Given the description of an element on the screen output the (x, y) to click on. 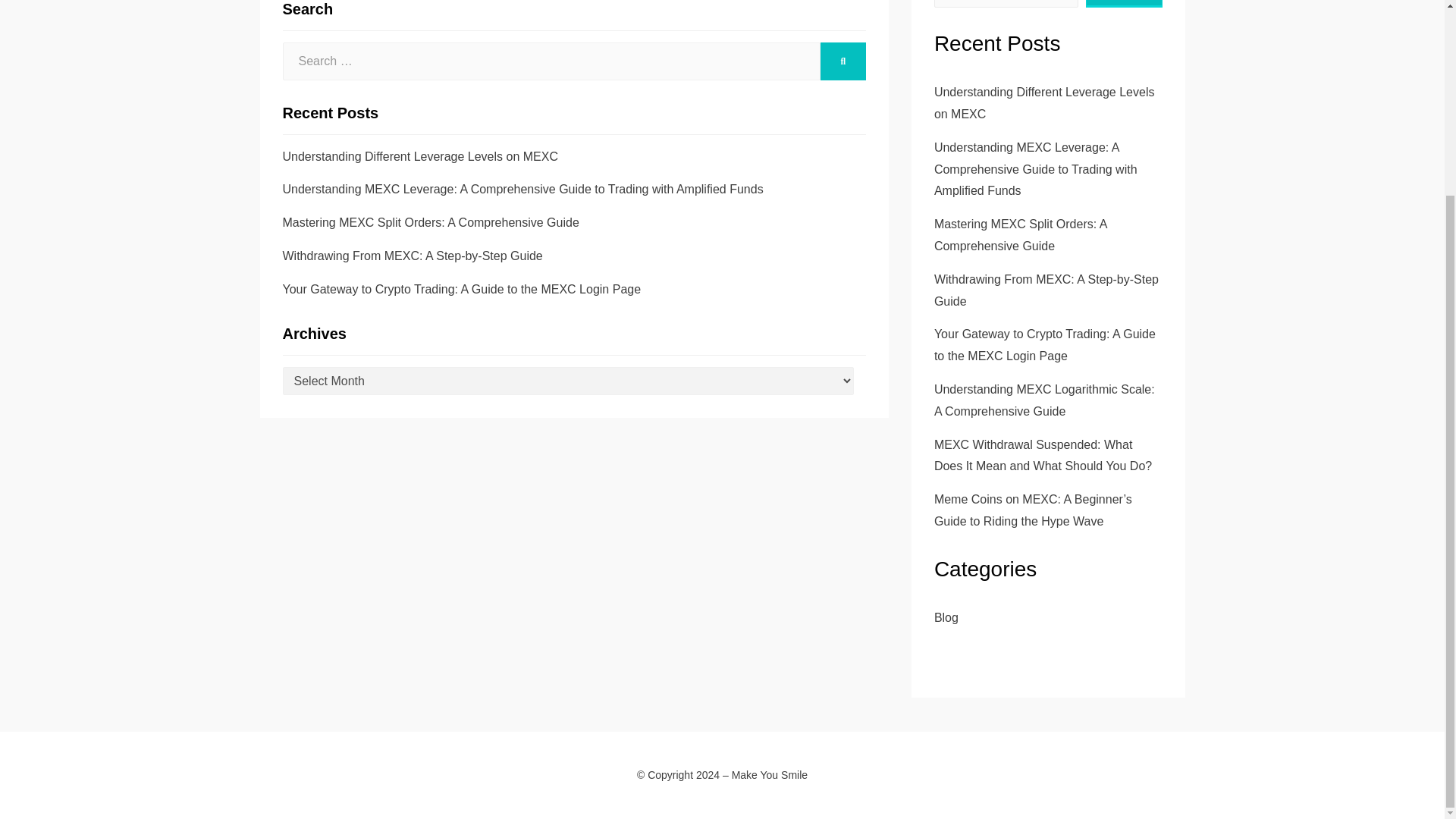
Withdrawing From MEXC: A Step-by-Step Guide (411, 255)
Understanding Different Leverage Levels on MEXC (1044, 102)
SEARCH (843, 61)
WordPress (469, 796)
TemplateLens (358, 796)
Mastering MEXC Split Orders: A Comprehensive Guide (430, 222)
Understanding Different Leverage Levels on MEXC (419, 155)
